Given the description of an element on the screen output the (x, y) to click on. 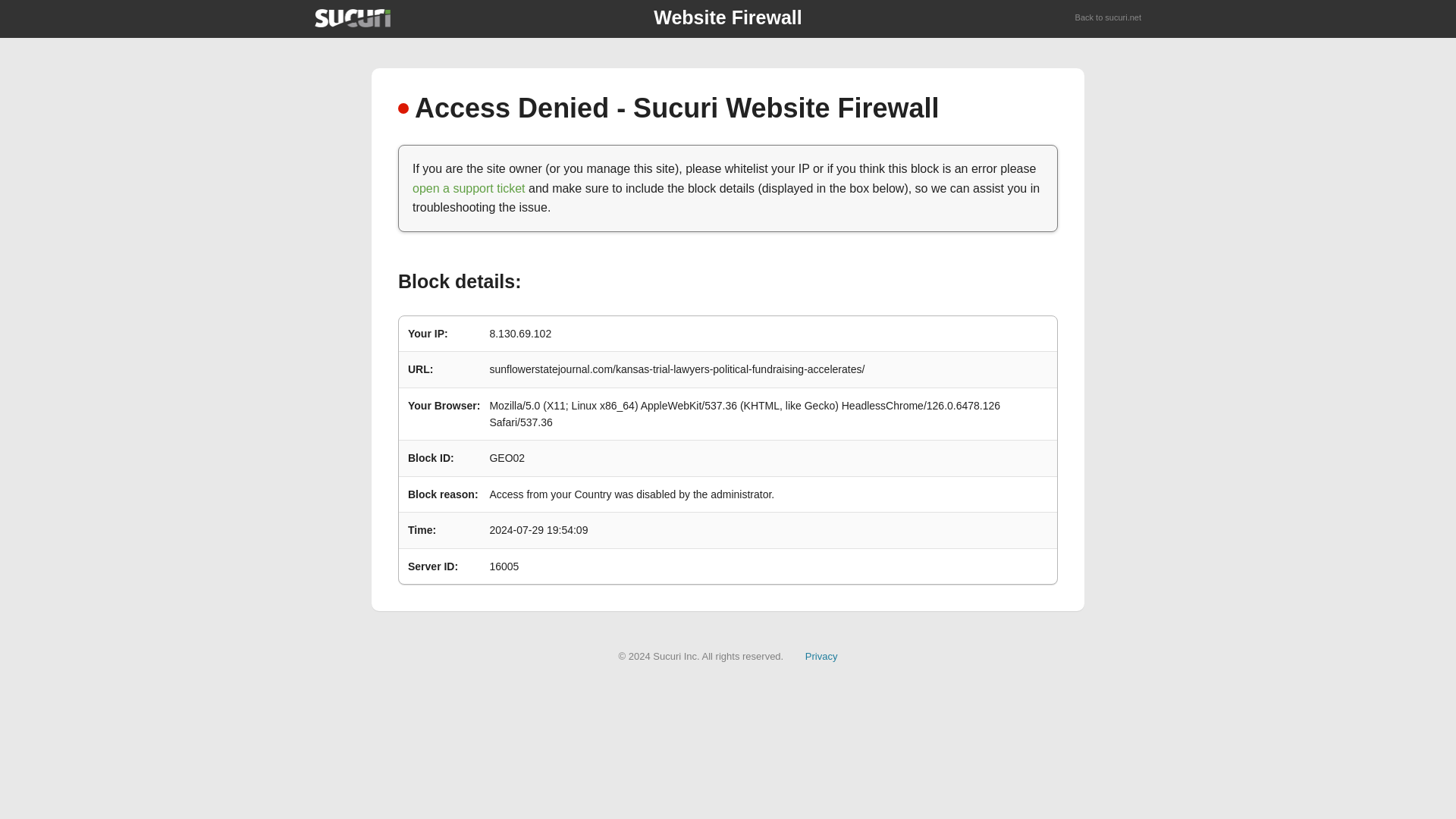
open a support ticket (468, 187)
Back to sucuri.net (1108, 18)
Privacy (821, 655)
